Given the description of an element on the screen output the (x, y) to click on. 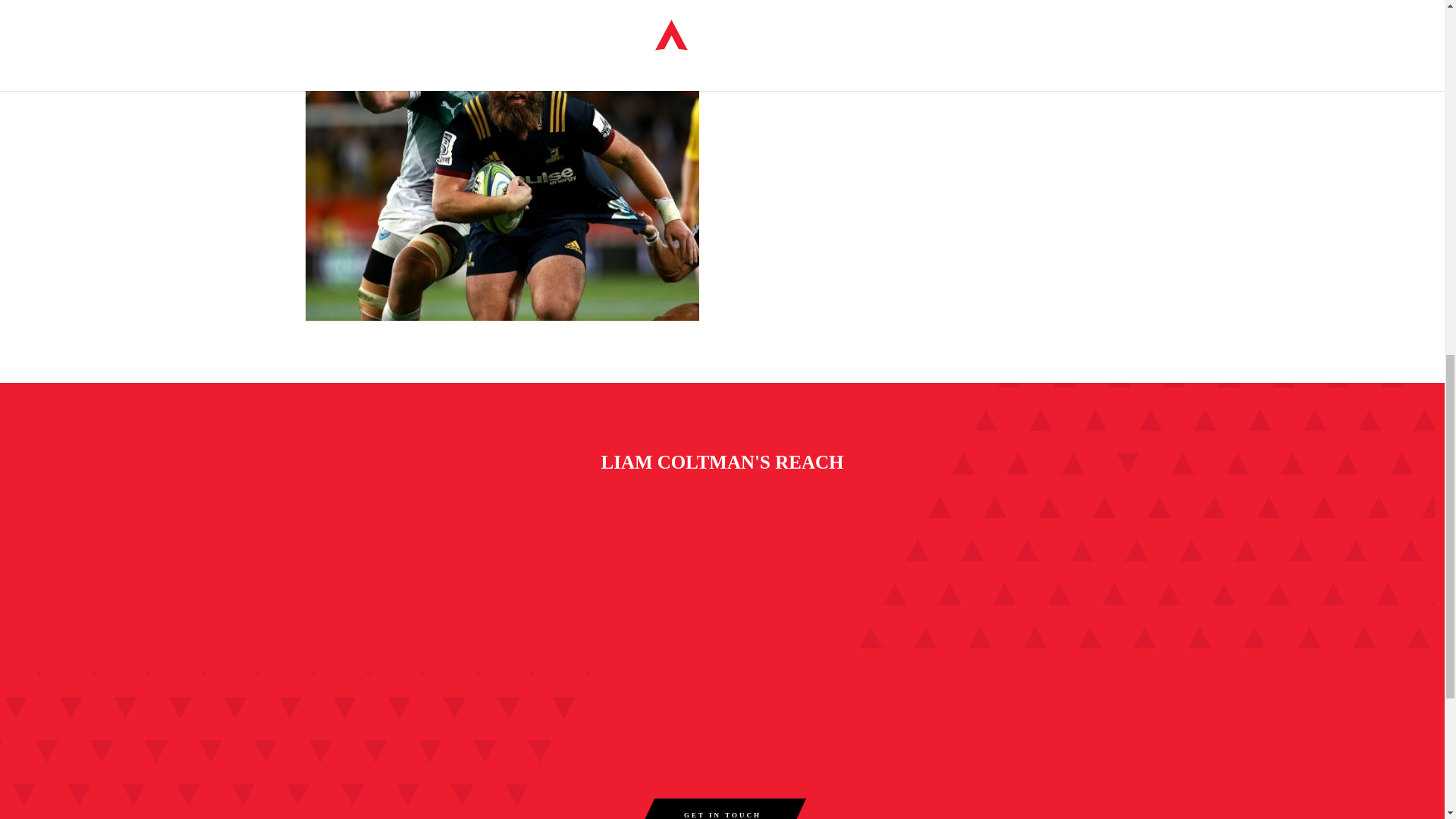
GET IN TOUCH (722, 808)
